Given the description of an element on the screen output the (x, y) to click on. 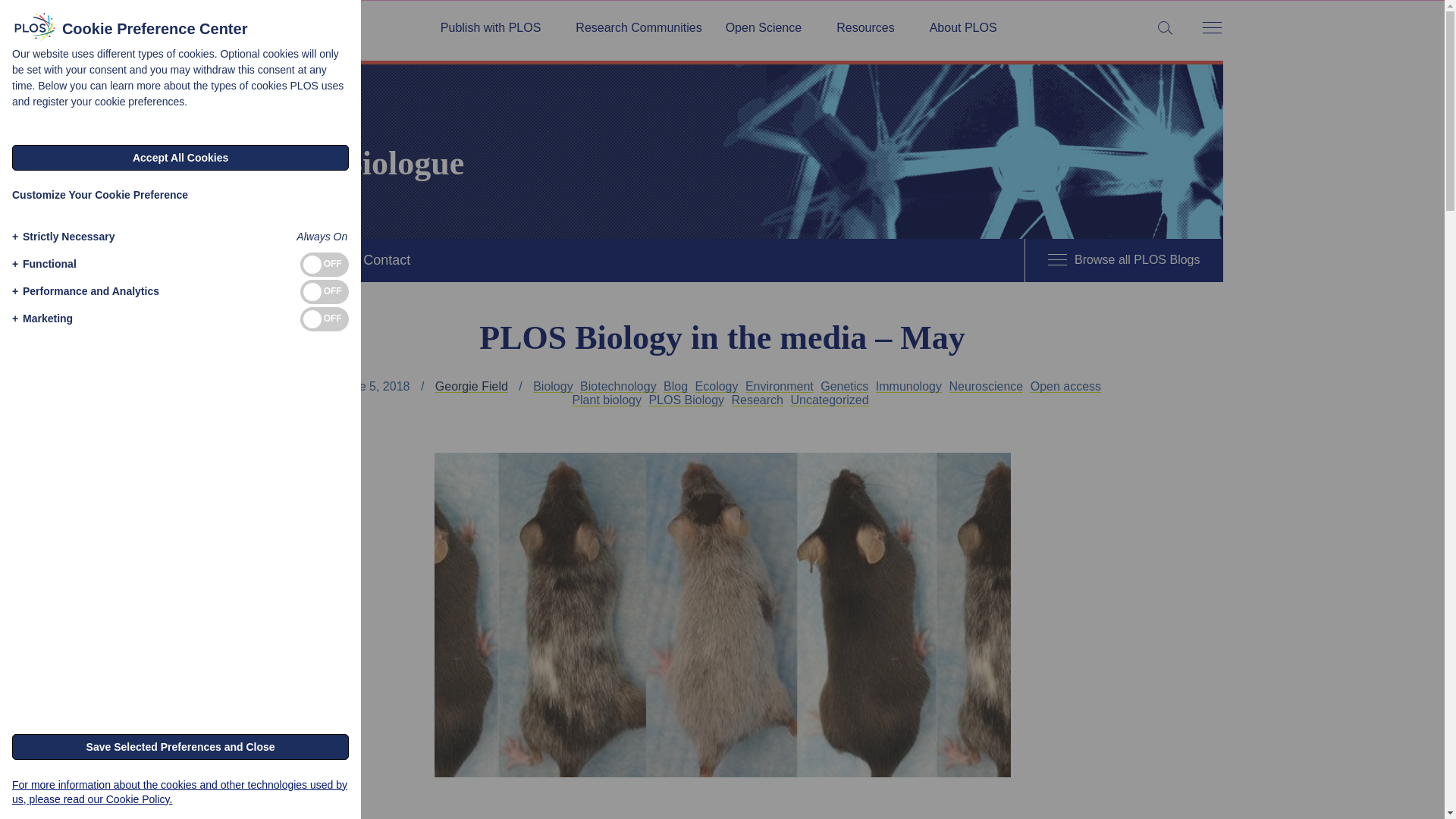
Publish with PLOS (496, 28)
About PLOS (962, 28)
Resources (870, 28)
Search (15, 15)
Menu (1211, 28)
Open Science (769, 28)
Research Communities (638, 28)
